Given the description of an element on the screen output the (x, y) to click on. 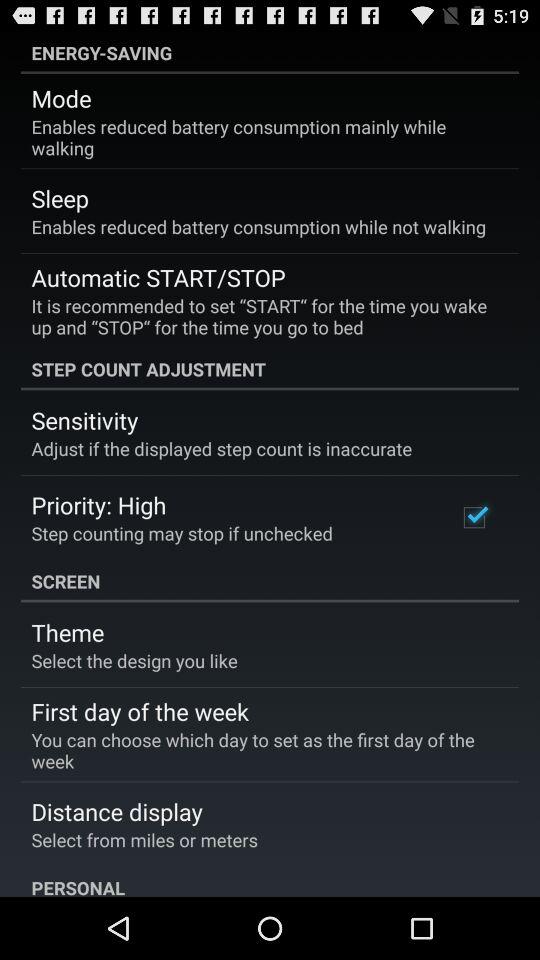
flip until mode (61, 97)
